Given the description of an element on the screen output the (x, y) to click on. 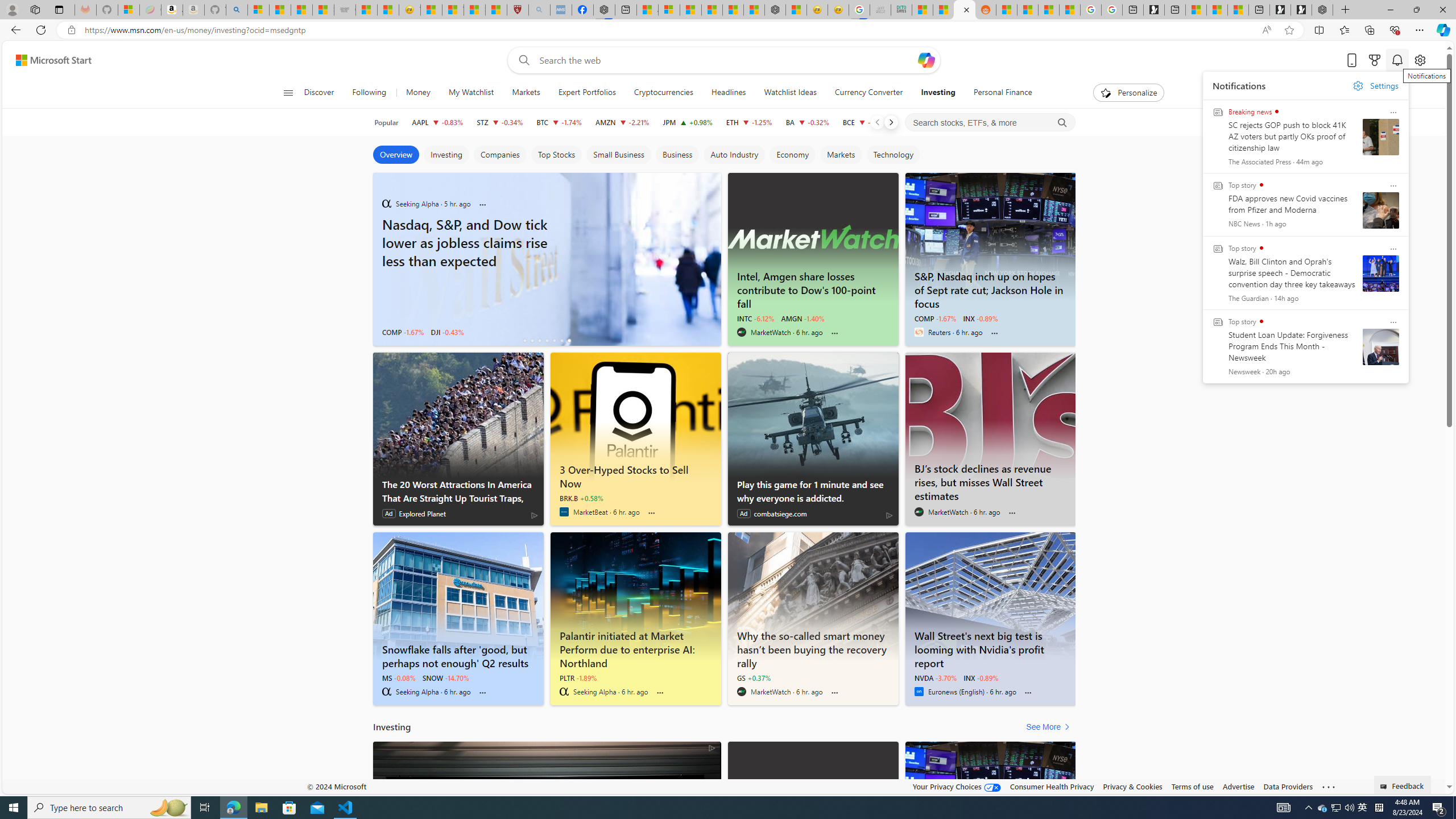
New tab (1258, 9)
Consumer Health Privacy (1051, 785)
AdChoices (710, 747)
Your Privacy Choices (956, 786)
Your Privacy Choices (956, 785)
Currency Converter (868, 92)
Enter your search term (726, 59)
Investing (445, 154)
Class: oneFooter_seeMore-DS-EntryPoint1-1 (1328, 786)
